Given the description of an element on the screen output the (x, y) to click on. 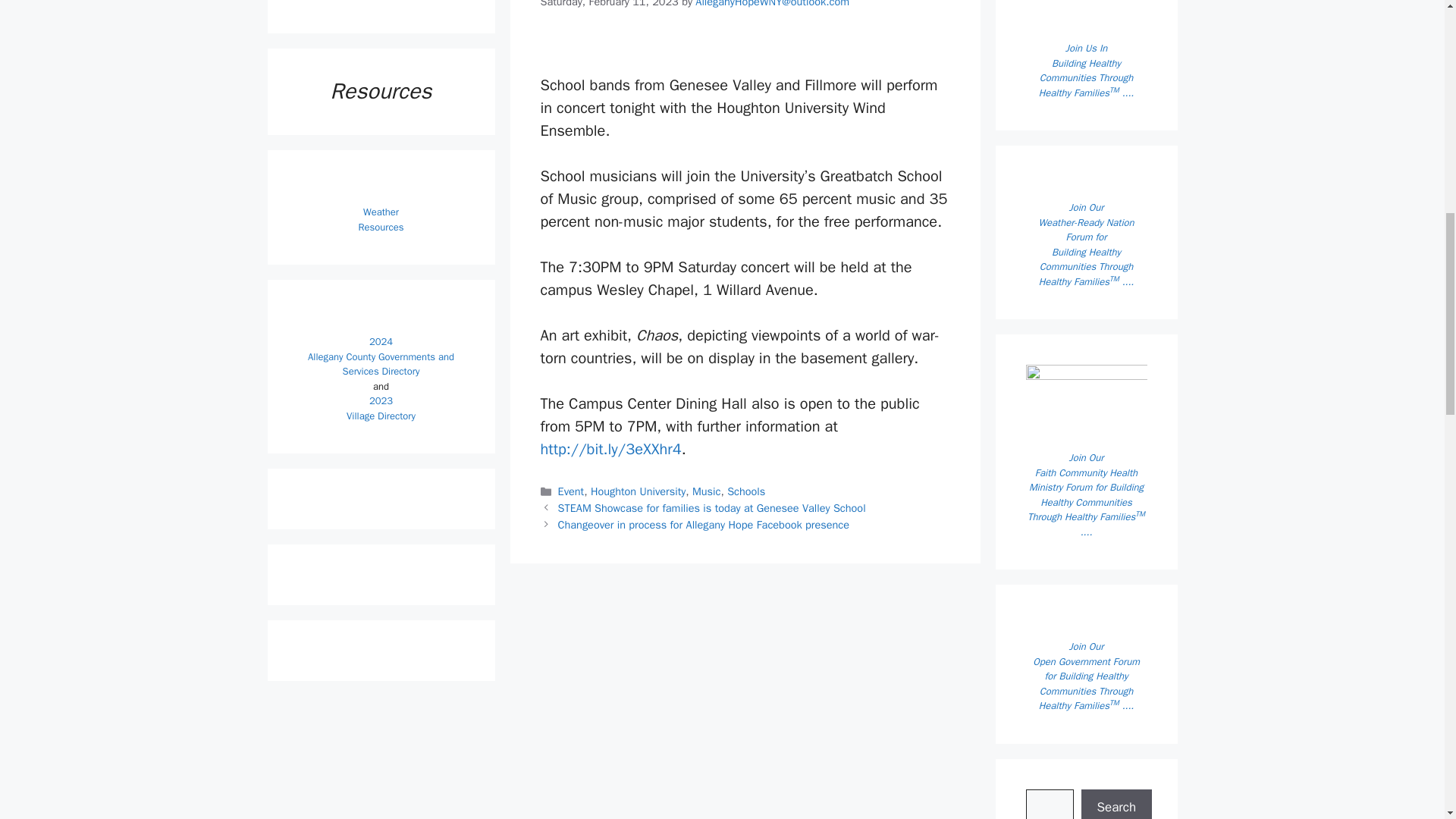
Changeover in process for Allegany Hope Facebook presence (702, 524)
2023 (381, 400)
Join Our (1085, 206)
Search (1117, 804)
Allegany County Governments and Services Directory (380, 364)
Join Our (1085, 645)
Houghton University (638, 490)
Event (571, 490)
